Given the description of an element on the screen output the (x, y) to click on. 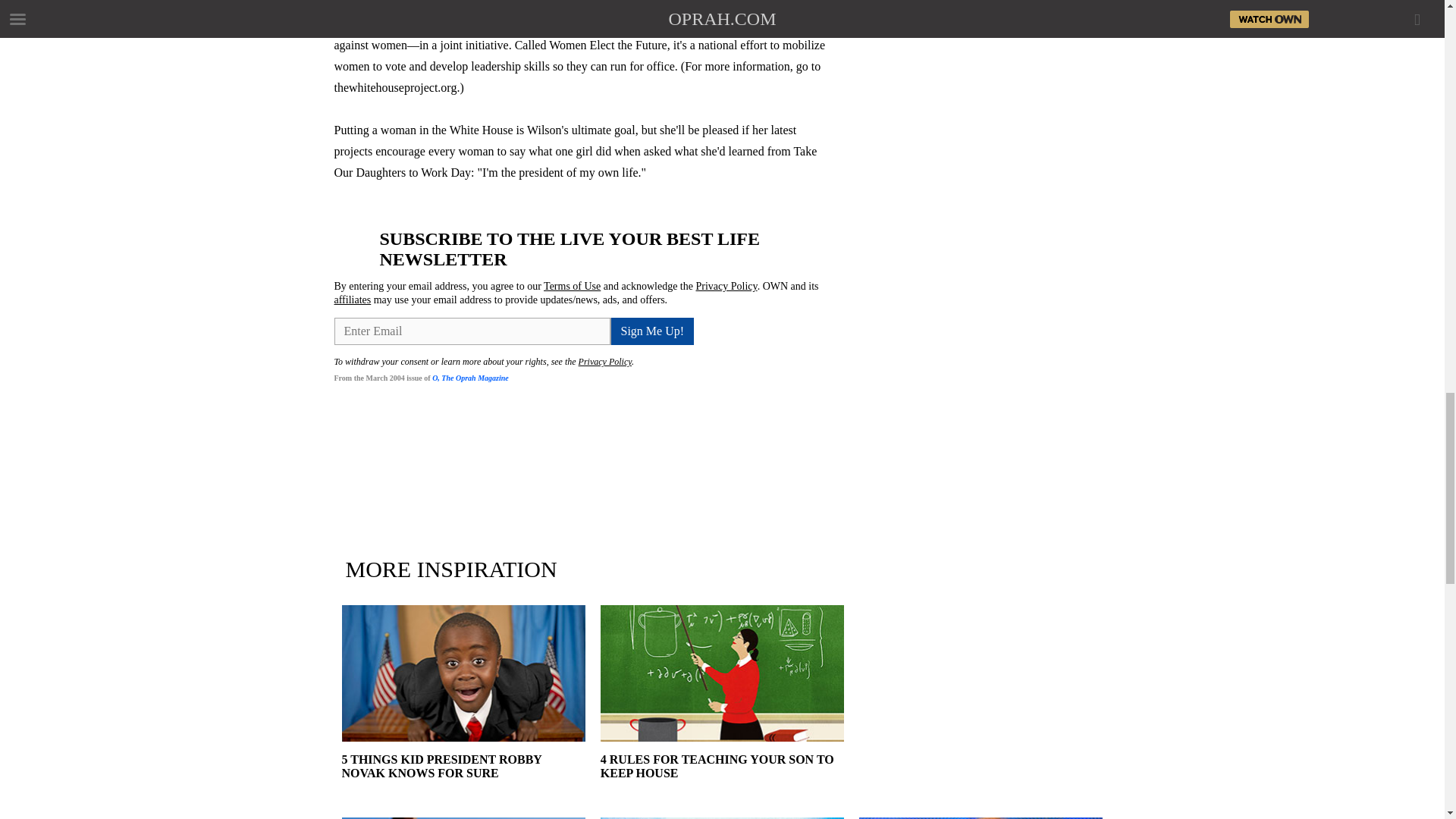
4 RULES FOR TEACHING YOUR SON TO KEEP HOUSE (721, 779)
Privacy Policy (726, 285)
O, The Oprah Magazine (470, 377)
5 THINGS KID PRESIDENT ROBBY NOVAK KNOWS FOR SURE (462, 779)
Privacy Policy (604, 361)
Terms of Use (571, 285)
affiliates (352, 299)
